Given the description of an element on the screen output the (x, y) to click on. 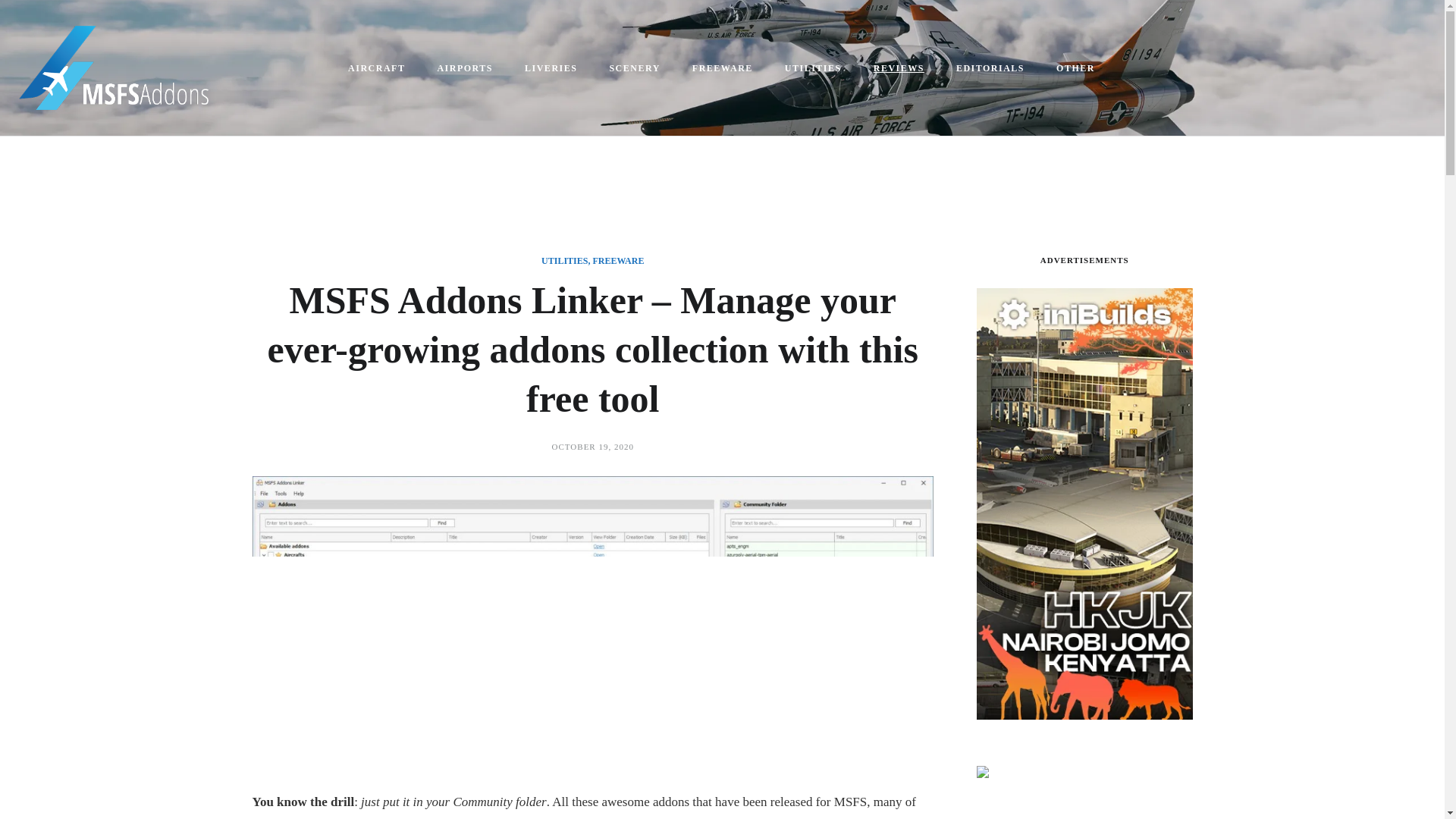
FREEWARE (617, 260)
FREEWARE (723, 68)
MSFS Addons (510, 818)
EDITORIALS (990, 68)
OTHER (1076, 68)
LIVERIES (551, 68)
UTILITIES (814, 68)
AIRPORTS (465, 68)
SCENERY (635, 68)
REVIEWS (899, 68)
